Given the description of an element on the screen output the (x, y) to click on. 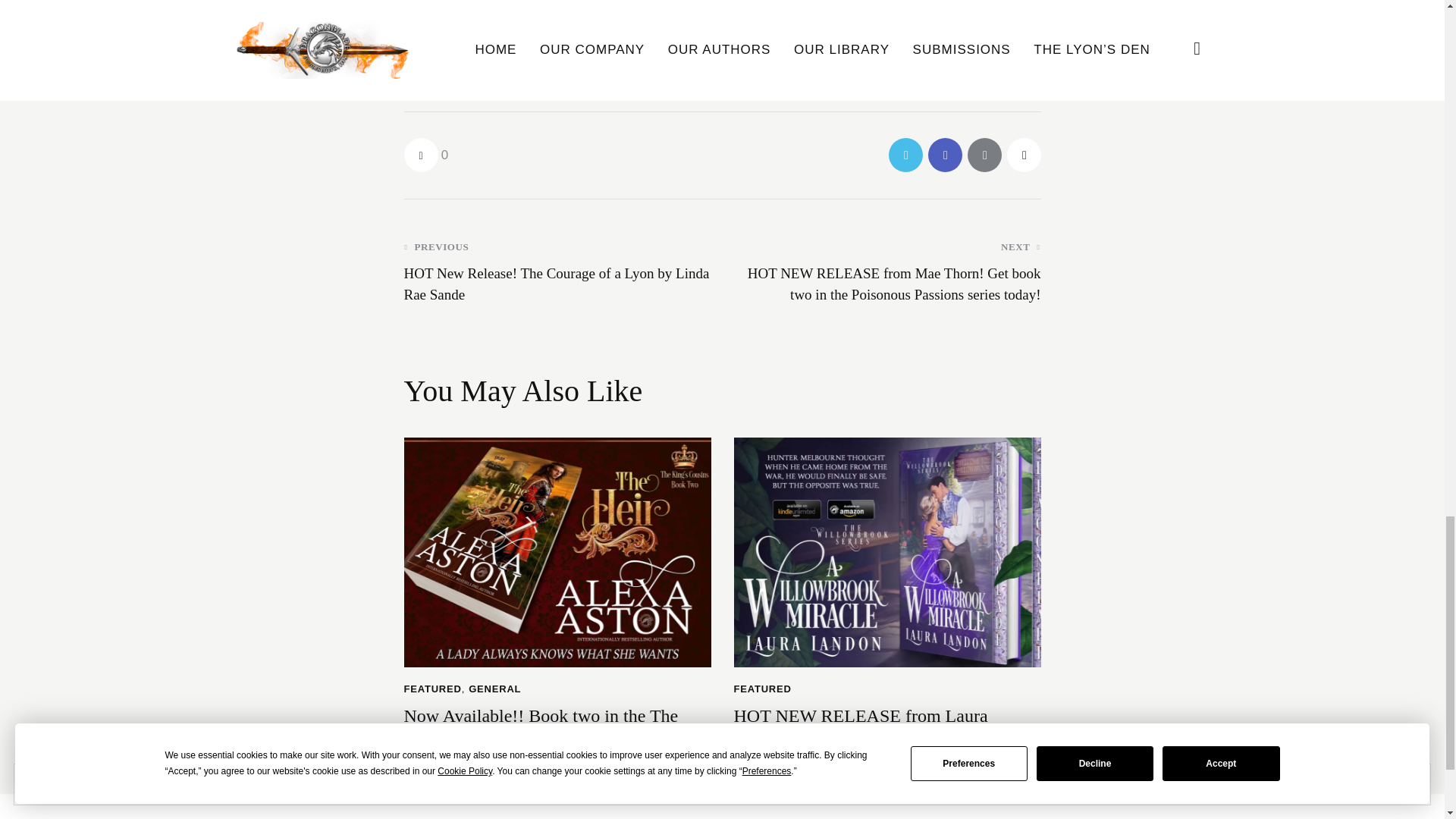
Copy URL to clipboard (1024, 154)
Like (425, 154)
